Given the description of an element on the screen output the (x, y) to click on. 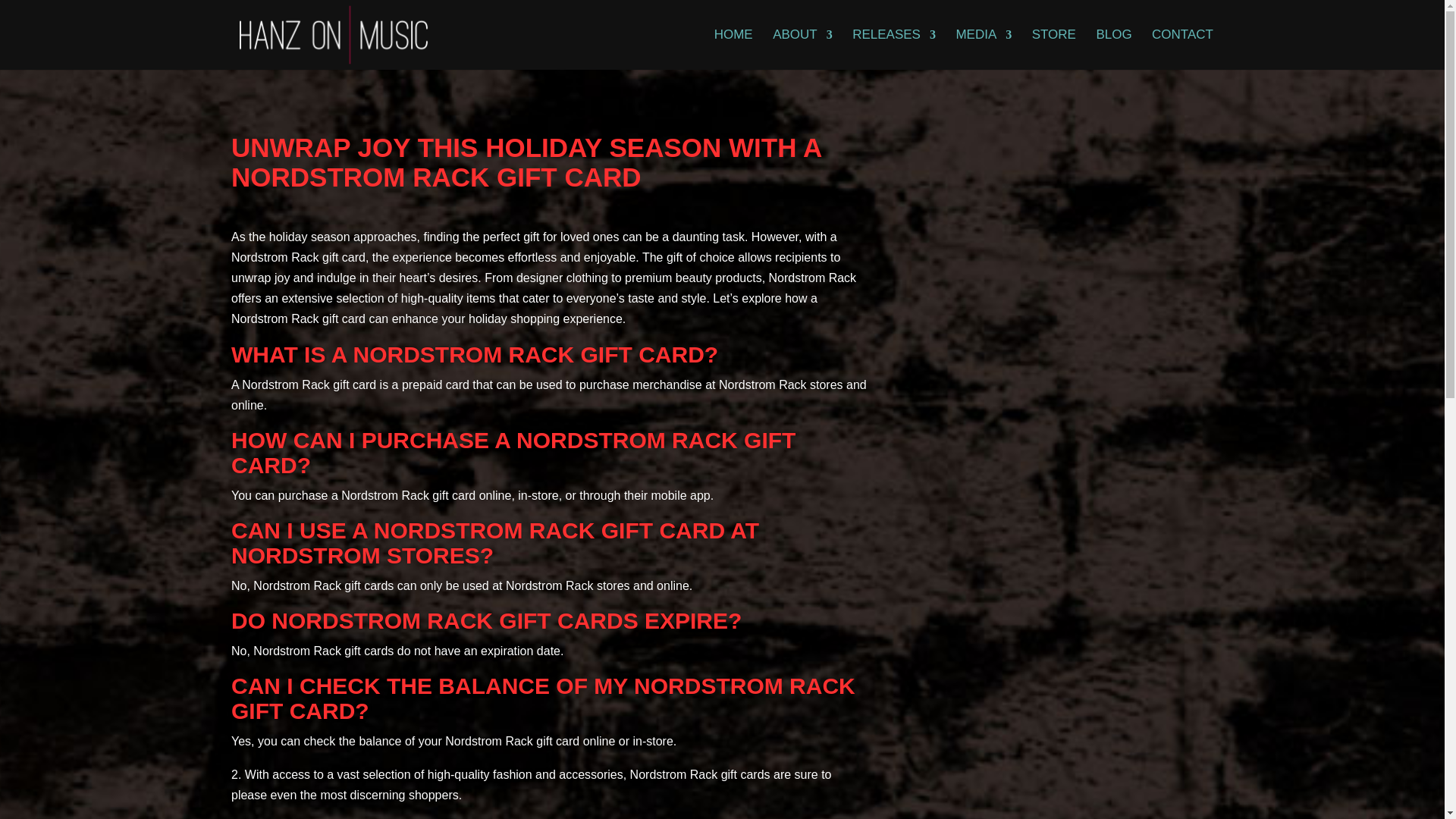
RELEASES (893, 49)
ABOUT (802, 49)
MEDIA (983, 49)
CONTACT (1181, 49)
HOME (733, 49)
STORE (1053, 49)
